Given the description of an element on the screen output the (x, y) to click on. 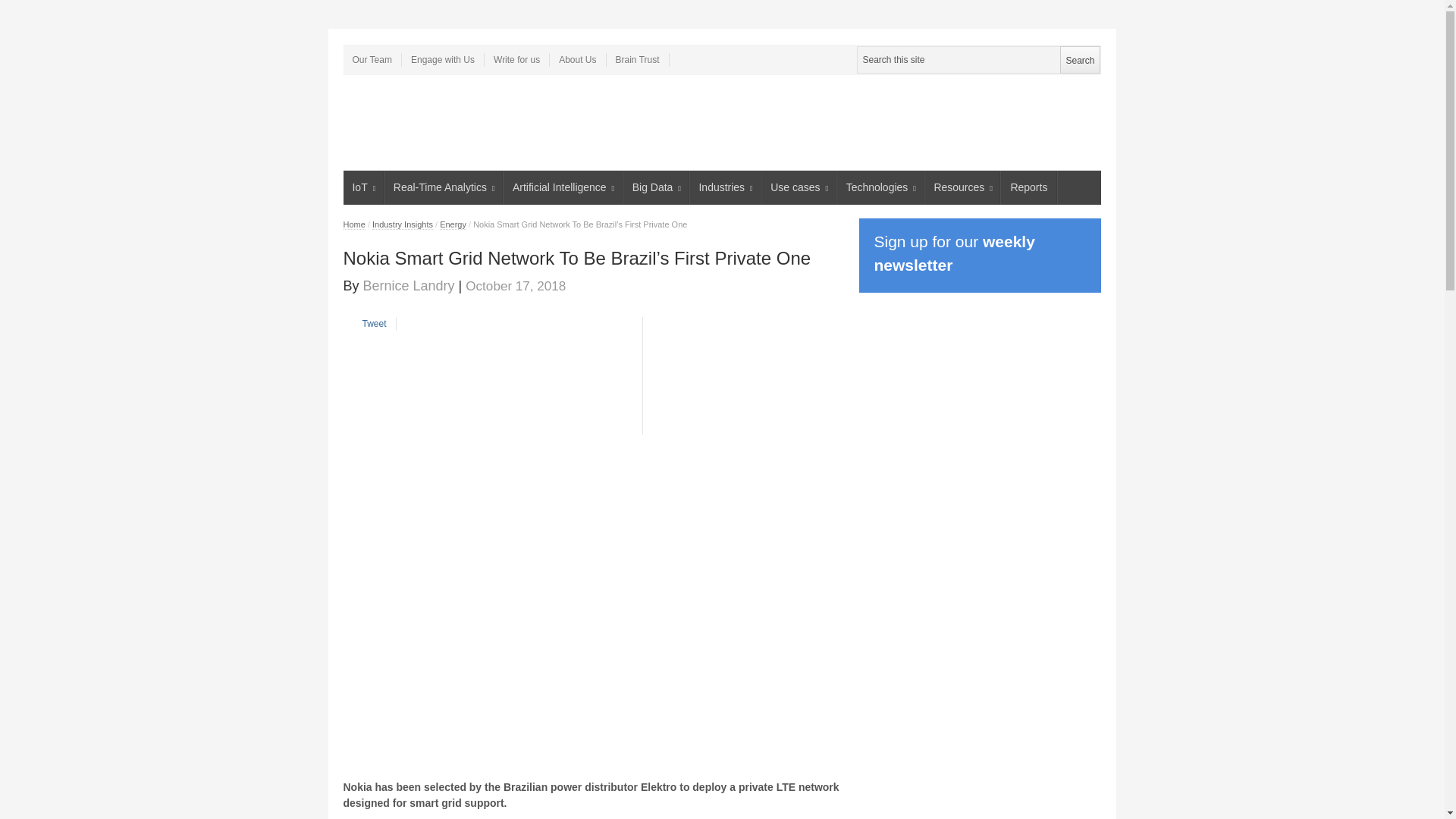
Search (1079, 59)
IoT (362, 187)
Engage with Us (442, 59)
About Us (577, 59)
Search this site (978, 59)
3rd party ad content (634, 122)
Artificial Intelligence (563, 187)
Internet of Things (362, 187)
Our Team (371, 59)
View all posts by Bernice Landry (408, 285)
